Given the description of an element on the screen output the (x, y) to click on. 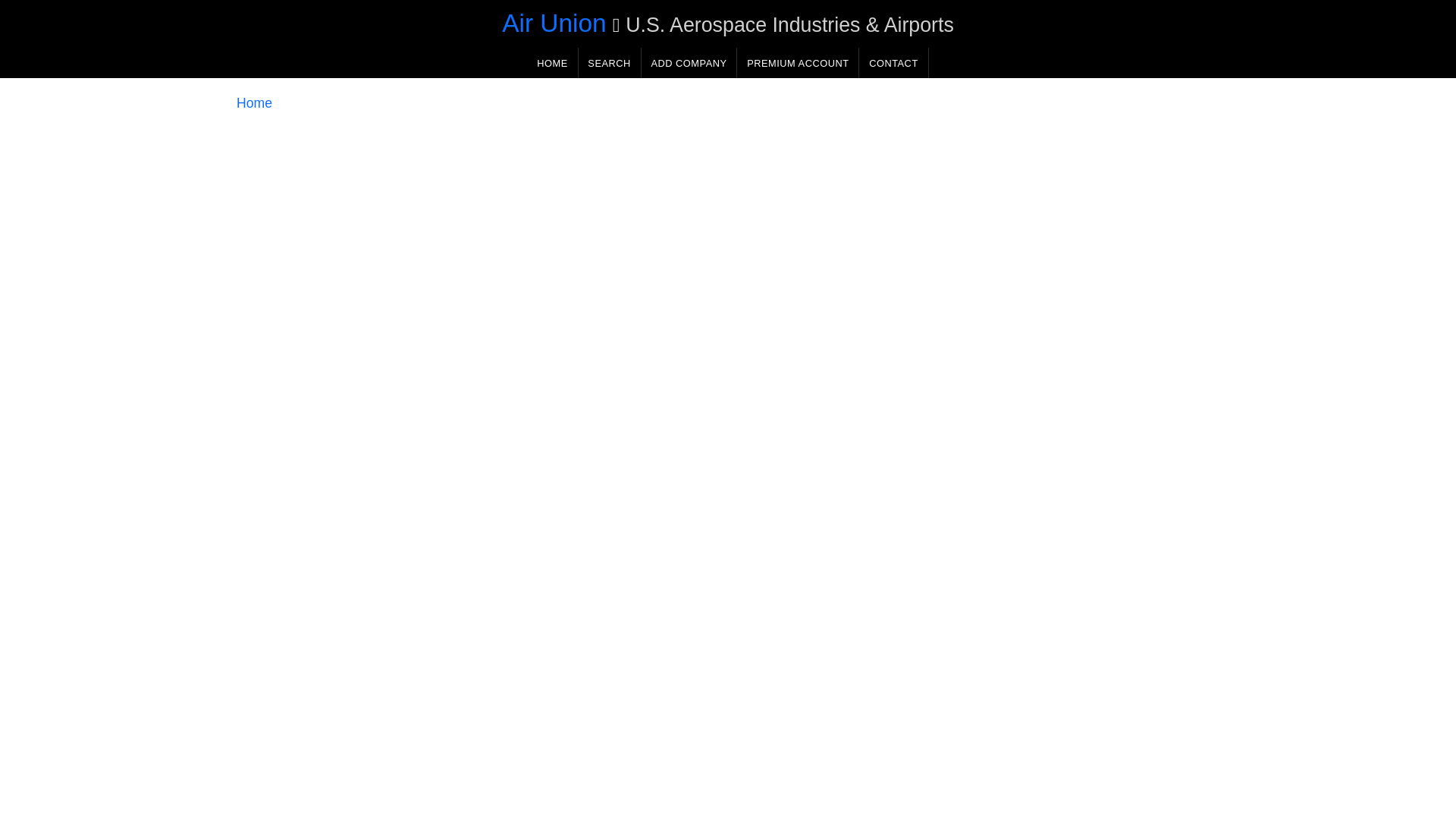
Search in this webseite. (609, 62)
HOME (551, 62)
Premium account (797, 62)
Add a new company (689, 62)
Air Union (553, 22)
CONTACT (893, 62)
SEARCH (609, 62)
ADD COMPANY (689, 62)
PREMIUM ACCOUNT (797, 62)
Home (253, 102)
